Given the description of an element on the screen output the (x, y) to click on. 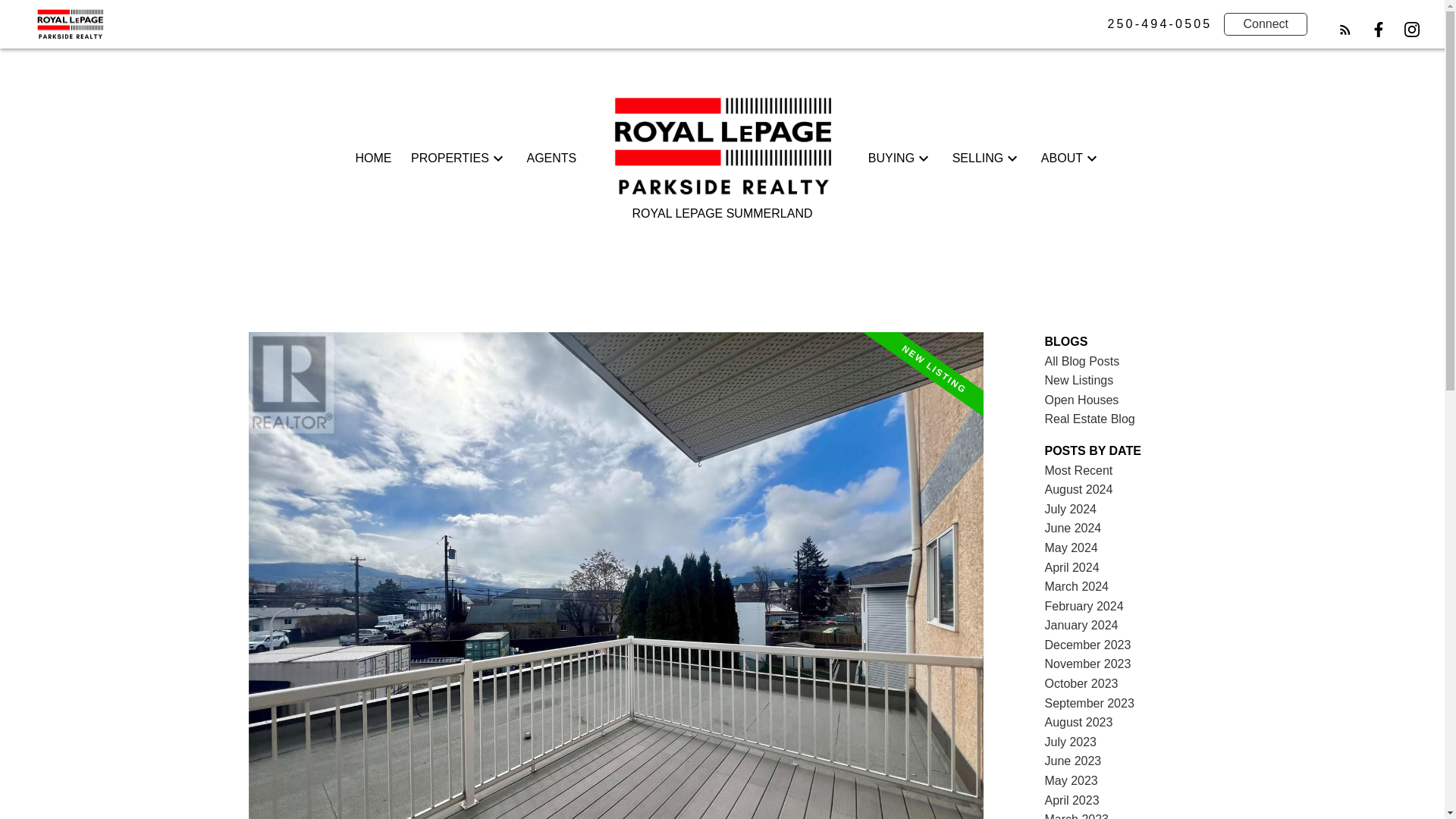
SELLING (978, 158)
Most Recent (1079, 470)
BUYING (890, 158)
August 2024 (1079, 489)
ABOUT (1062, 158)
May 2024 (1071, 547)
April 2024 (1072, 567)
All Blog Posts (1082, 360)
AGENTS (550, 158)
March 2024 (1077, 585)
